Given the description of an element on the screen output the (x, y) to click on. 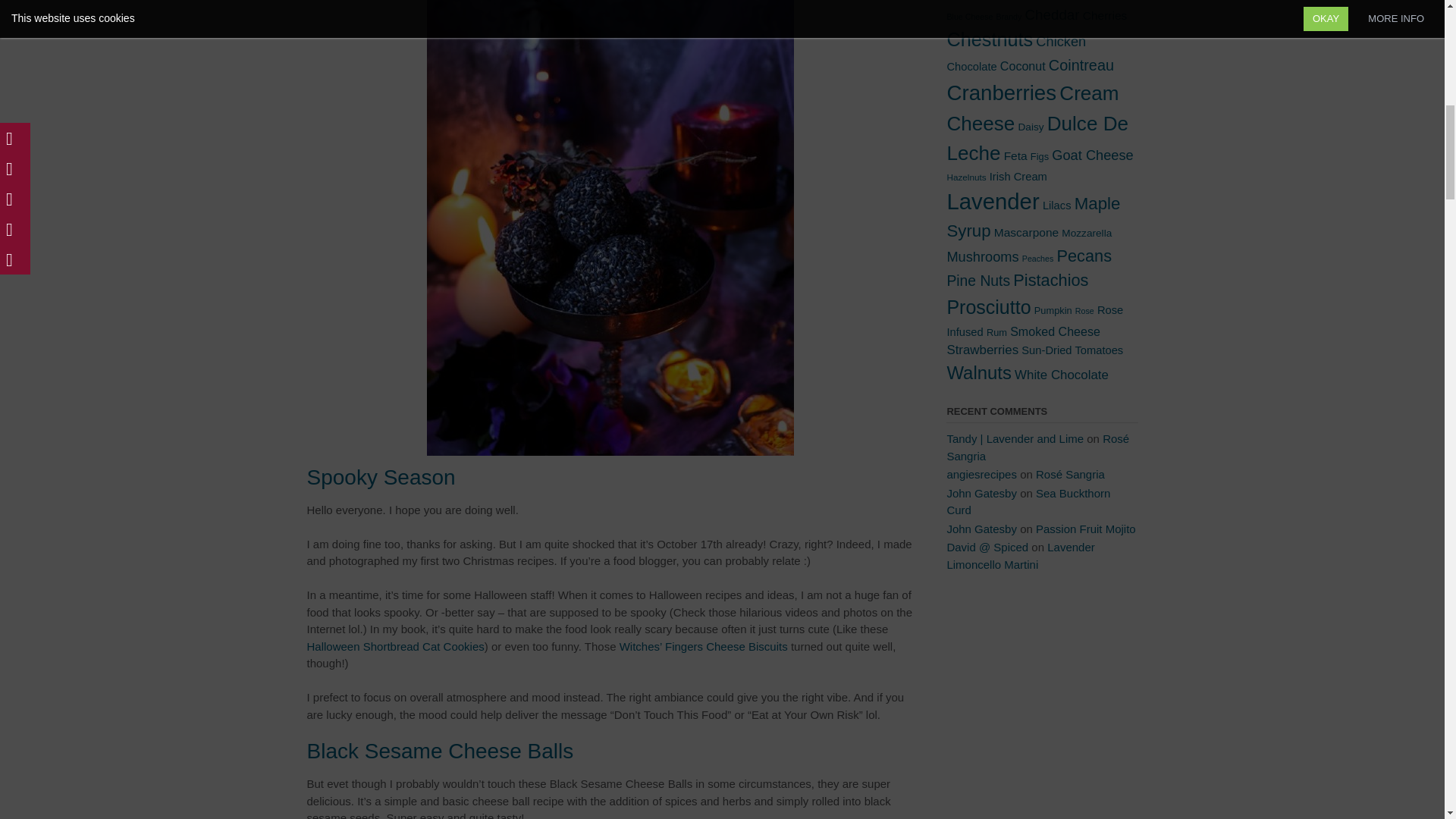
Halloween Shortbread Cat Cookies (394, 645)
